Given the description of an element on the screen output the (x, y) to click on. 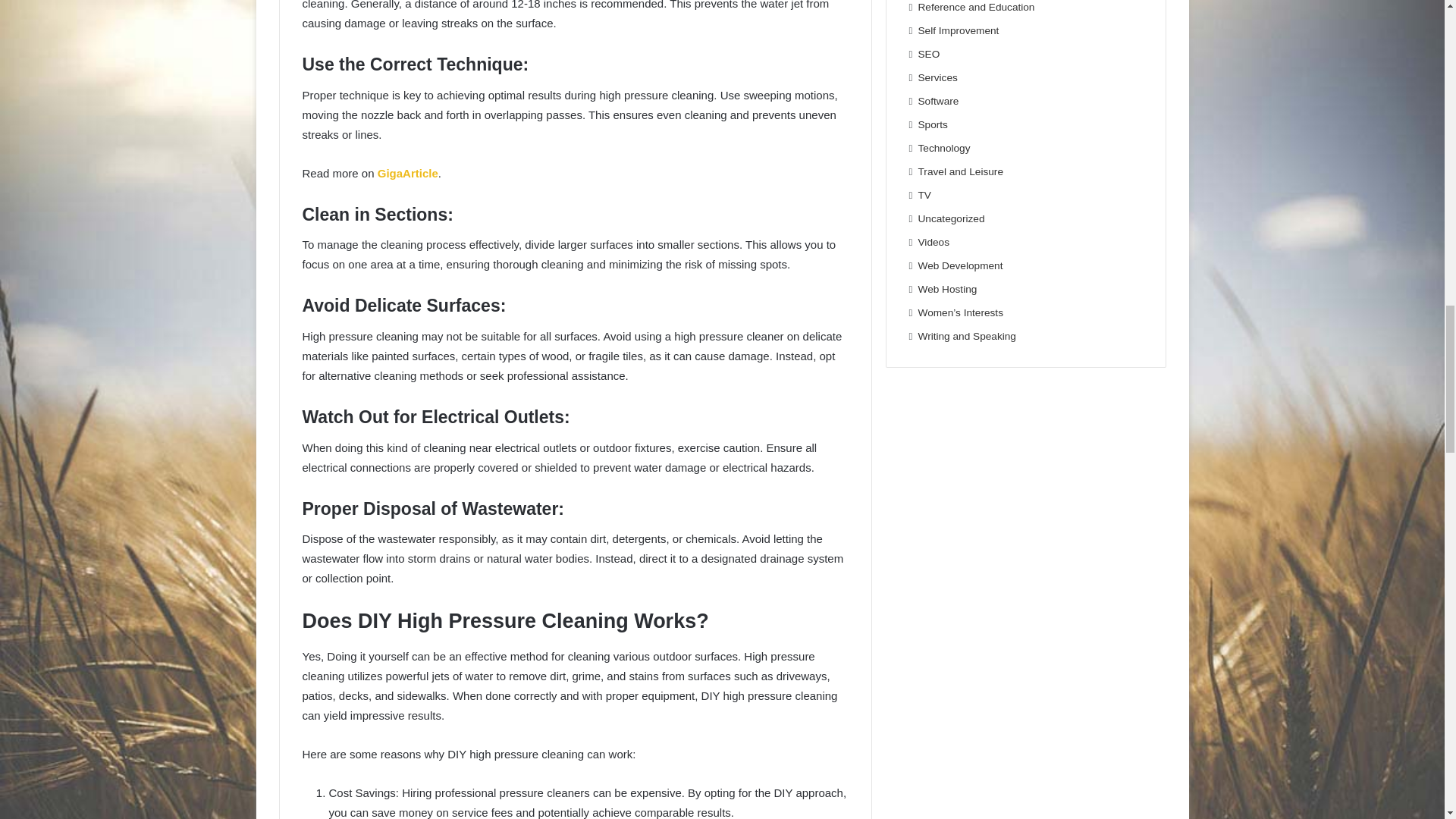
GigaArticle (407, 173)
